Given the description of an element on the screen output the (x, y) to click on. 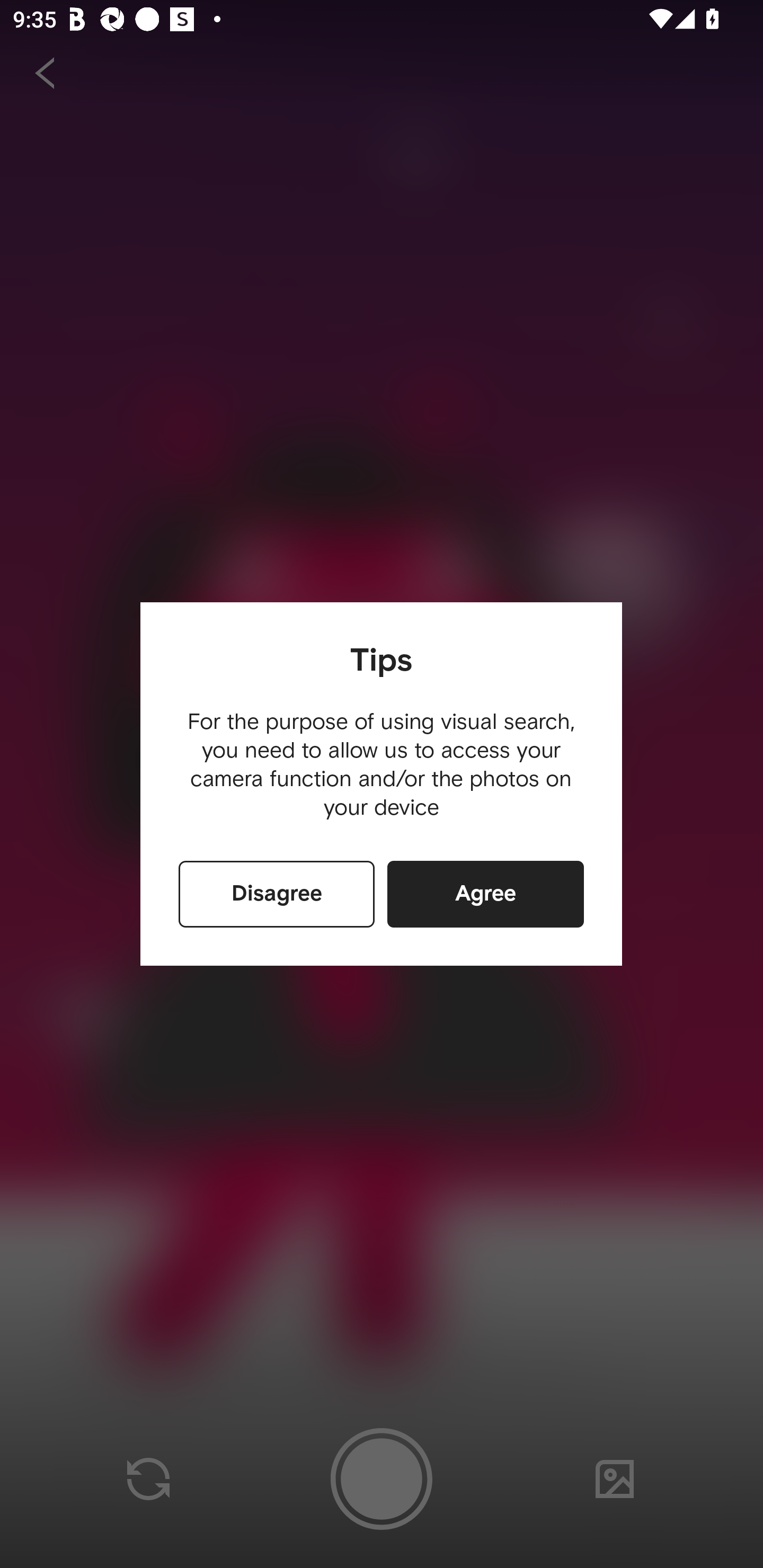
Disagree (276, 894)
Agree (485, 894)
